Given the description of an element on the screen output the (x, y) to click on. 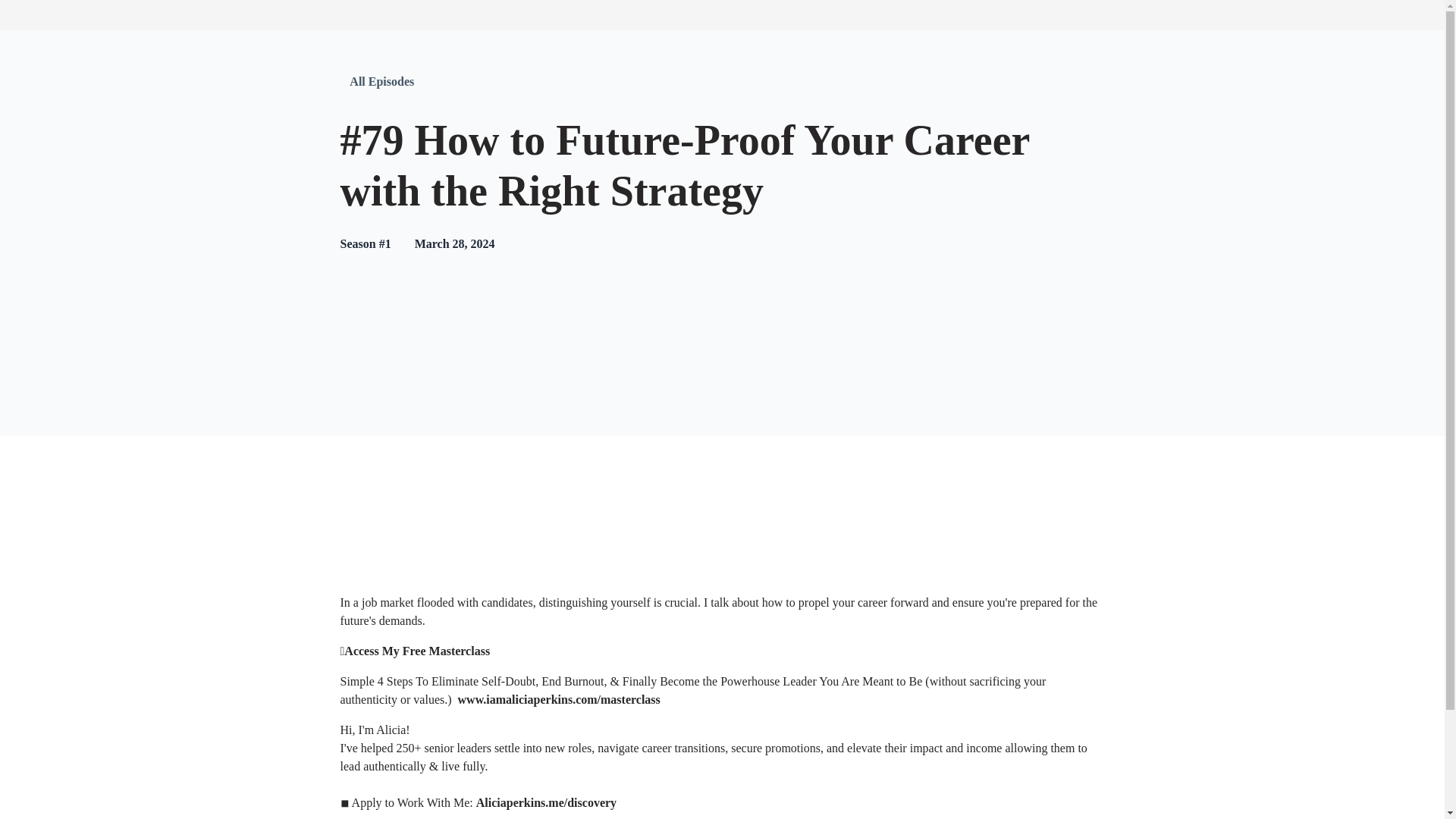
March 28, 2024 at 2:00am CST (454, 243)
All Episodes (381, 81)
